Given the description of an element on the screen output the (x, y) to click on. 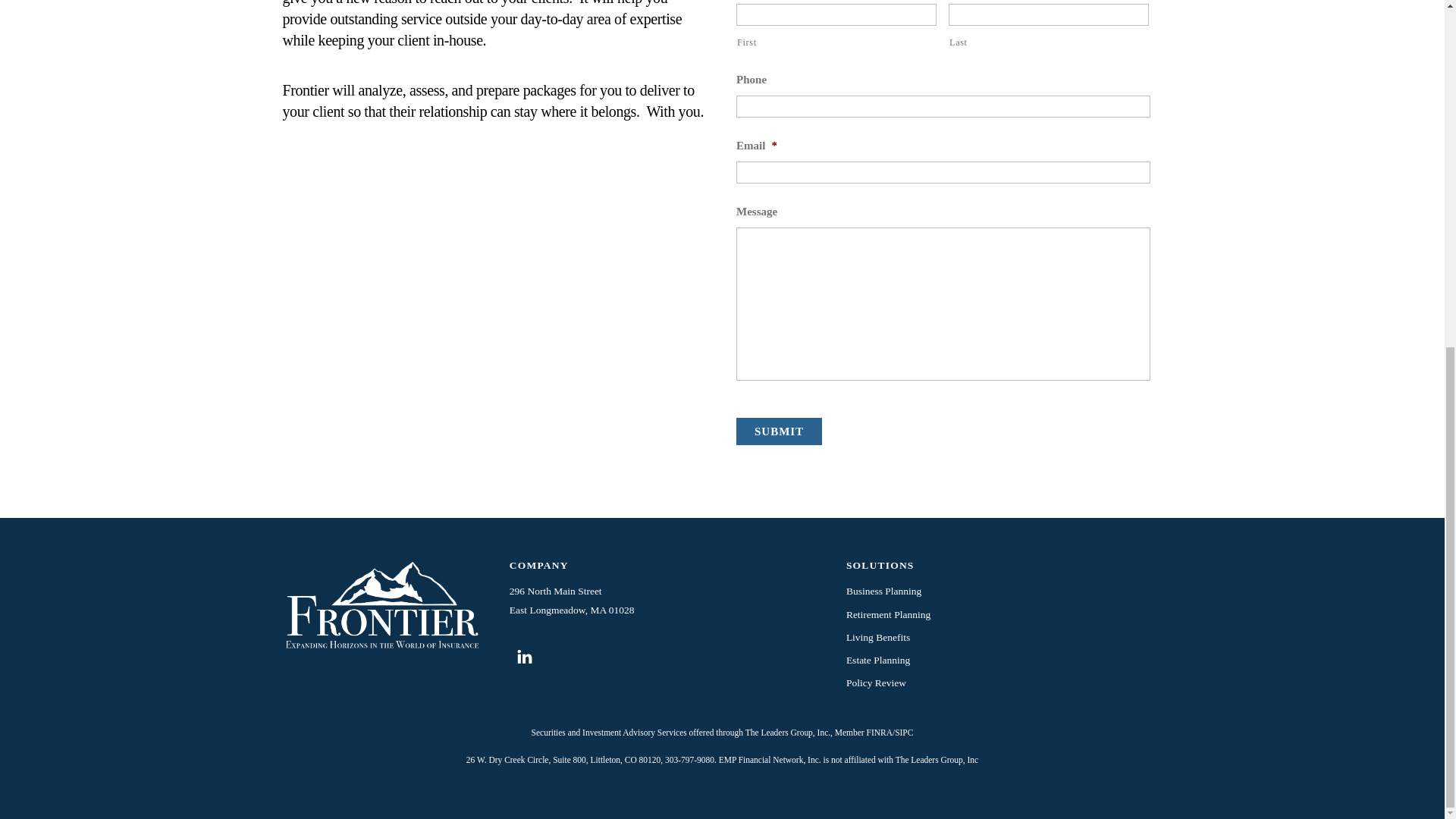
Submit (779, 431)
Policy Review (875, 682)
Submit (779, 431)
Estate Planning (877, 659)
Retirement Planning (887, 614)
Living Benefits (877, 636)
Business Planning (883, 591)
Frontier Brokerage Insurance Services (381, 645)
FINRA (879, 732)
SIPC (903, 732)
